Given the description of an element on the screen output the (x, y) to click on. 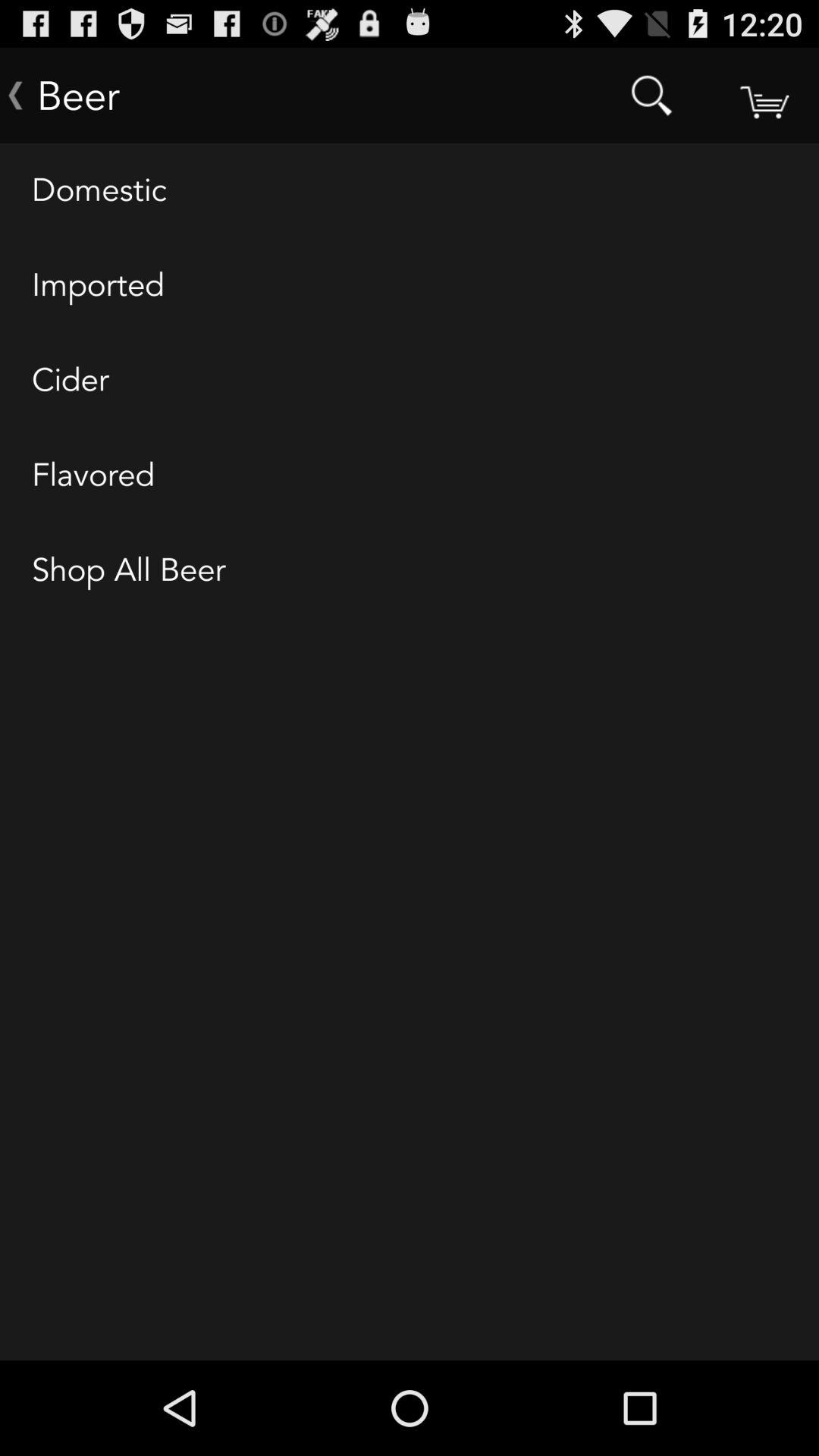
jump until domestic (409, 190)
